Given the description of an element on the screen output the (x, y) to click on. 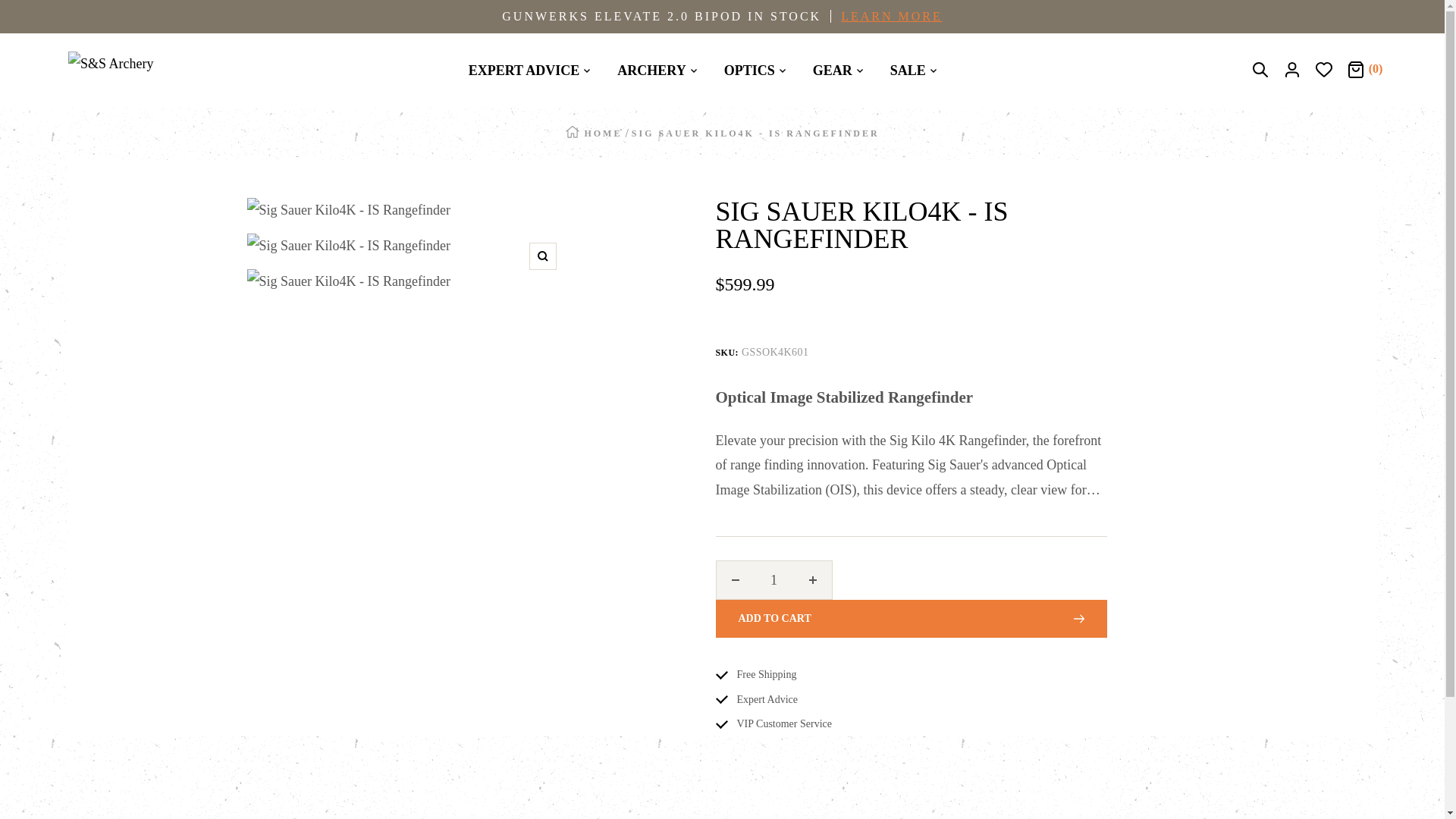
EXPERT ADVICE (529, 70)
1 (773, 579)
LEARN MORE (884, 15)
ARCHERY (656, 70)
